Given the description of an element on the screen output the (x, y) to click on. 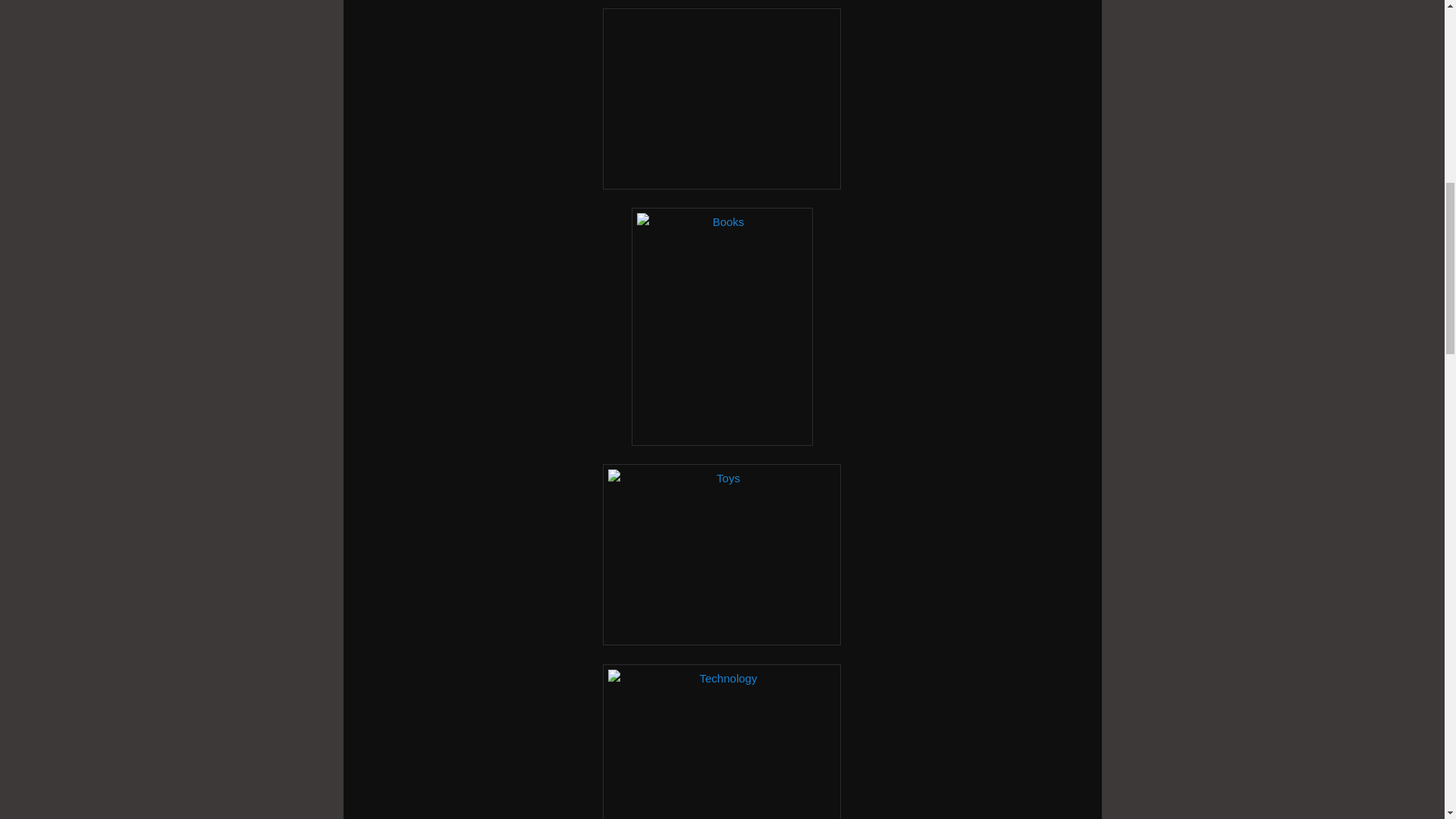
Toys (721, 554)
Books (721, 326)
Home (721, 98)
Technology (721, 741)
